Given the description of an element on the screen output the (x, y) to click on. 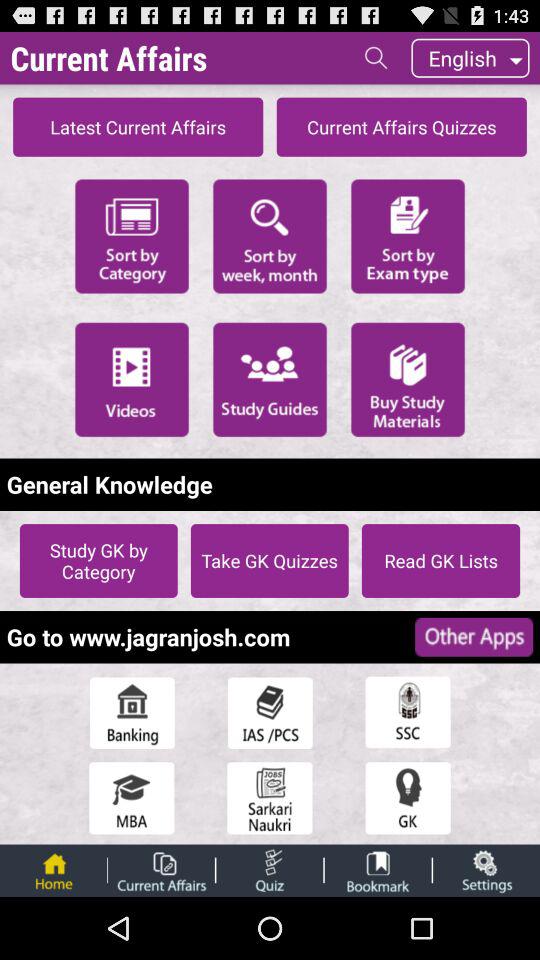
tap the icon above go to www app (98, 560)
